Given the description of an element on the screen output the (x, y) to click on. 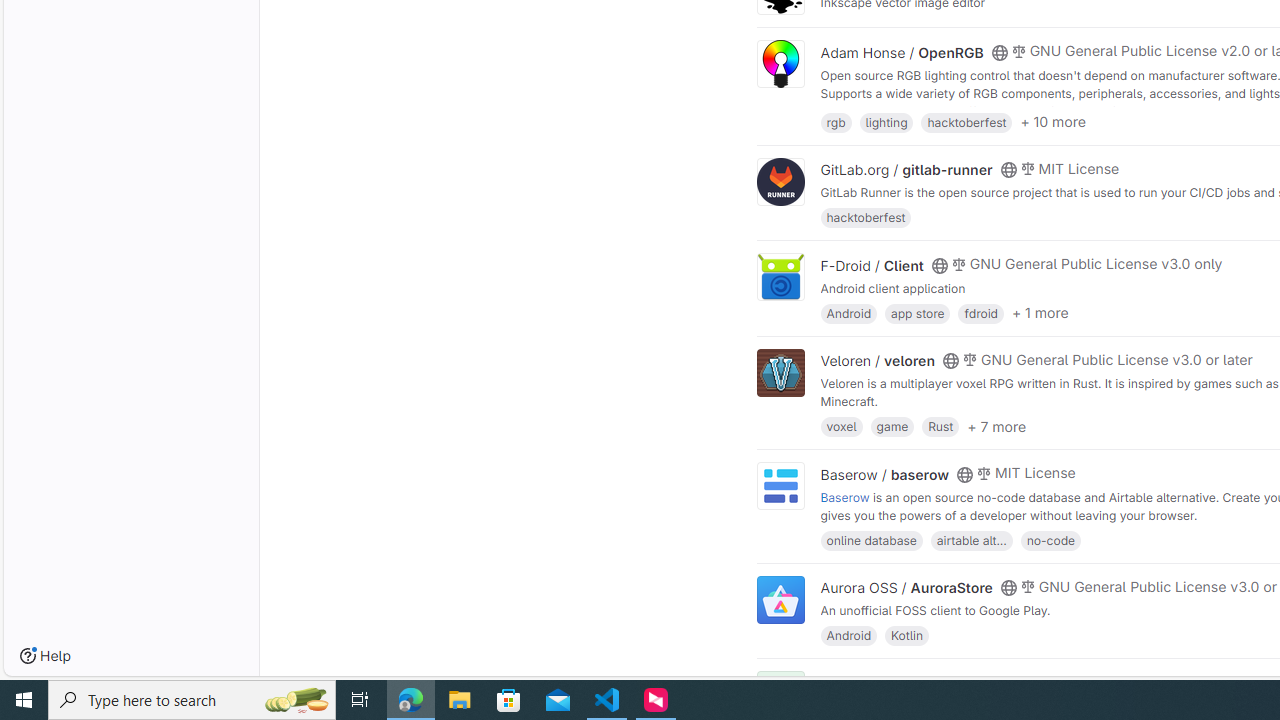
airtable alt... (971, 539)
no-code (1050, 539)
F (780, 695)
Edouard Klein / falsisign (902, 682)
Veloren / veloren (877, 361)
online database (871, 539)
game (892, 426)
F-Droid / Client (872, 265)
voxel (841, 426)
Kotlin (907, 634)
Baserow (845, 496)
Class: s14 gl-mr-2 (1018, 681)
+ 7 more (996, 425)
https://openrgb.org (989, 110)
fdroid (980, 312)
